Given the description of an element on the screen output the (x, y) to click on. 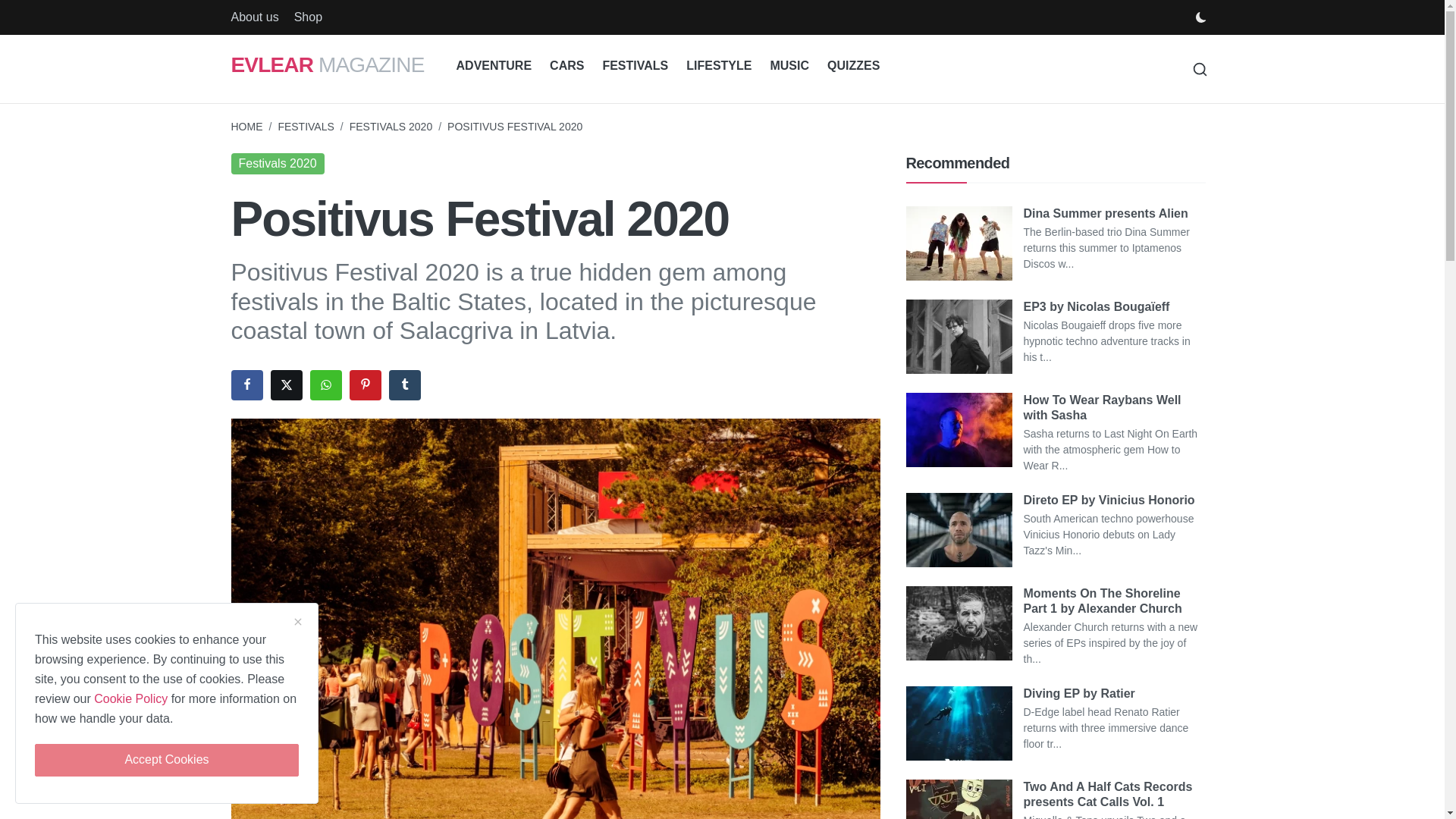
Quizzes (853, 66)
About us (254, 17)
Evlear Shop (307, 17)
FESTIVALS (305, 126)
Festivals 2020 (276, 163)
FESTIVALS (634, 66)
HOME (246, 126)
Shop (307, 17)
FESTIVALS 2020 (390, 126)
LIFESTYLE (718, 66)
